Given the description of an element on the screen output the (x, y) to click on. 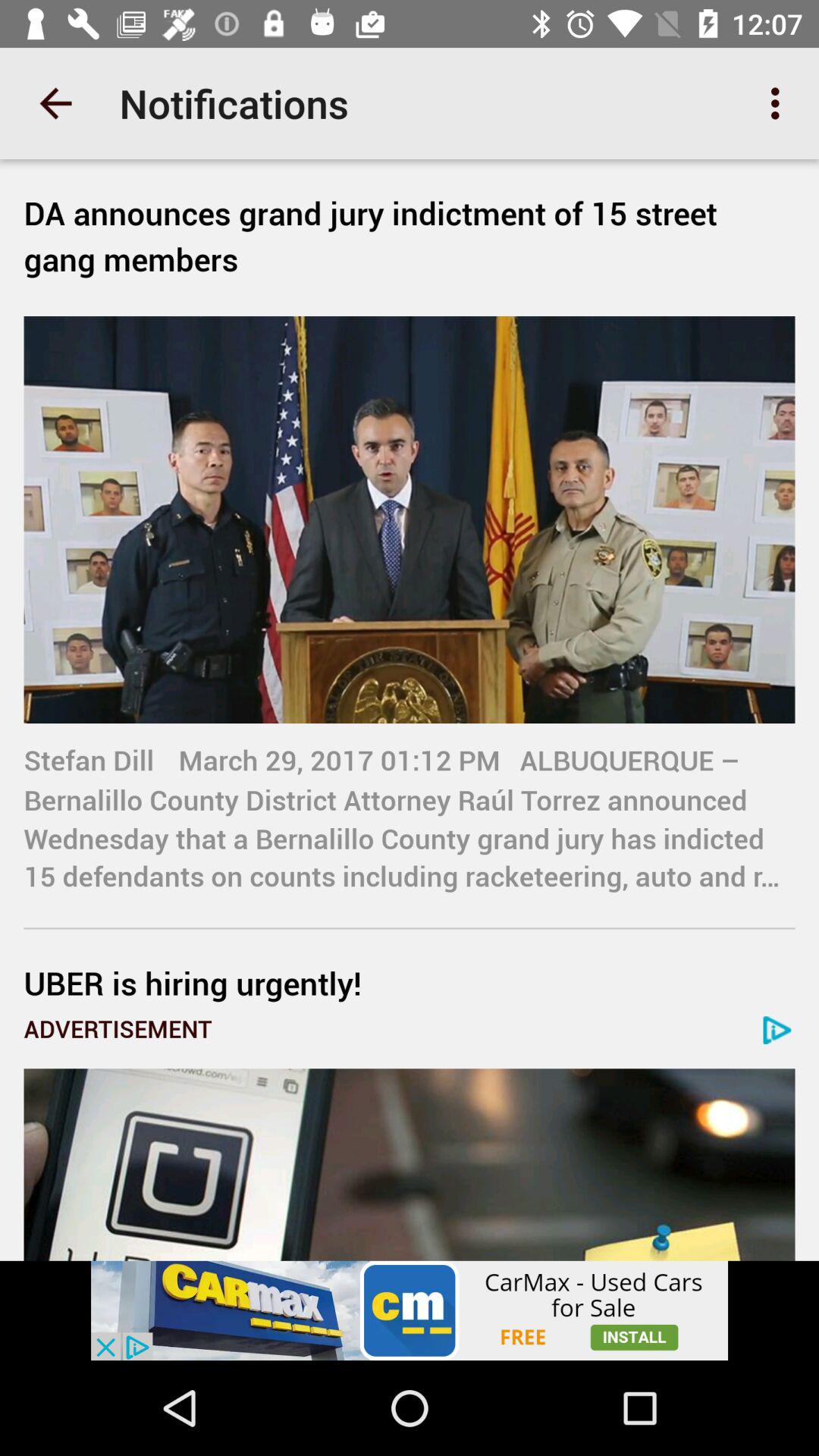
choose the item above advertisement (409, 982)
